Given the description of an element on the screen output the (x, y) to click on. 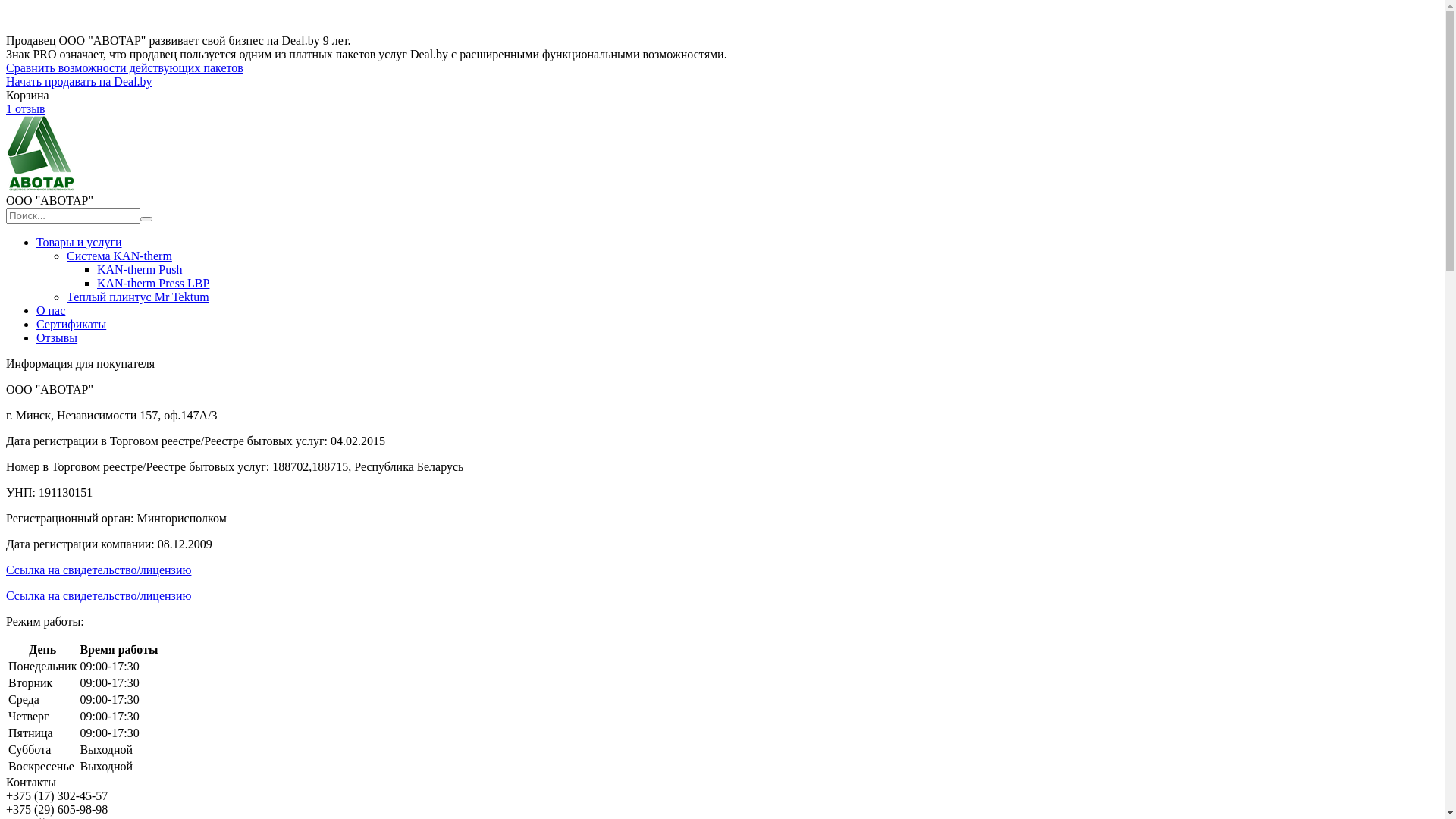
KAN-therm Press LBP Element type: text (153, 282)
KAN-therm Push Element type: text (139, 269)
